Given the description of an element on the screen output the (x, y) to click on. 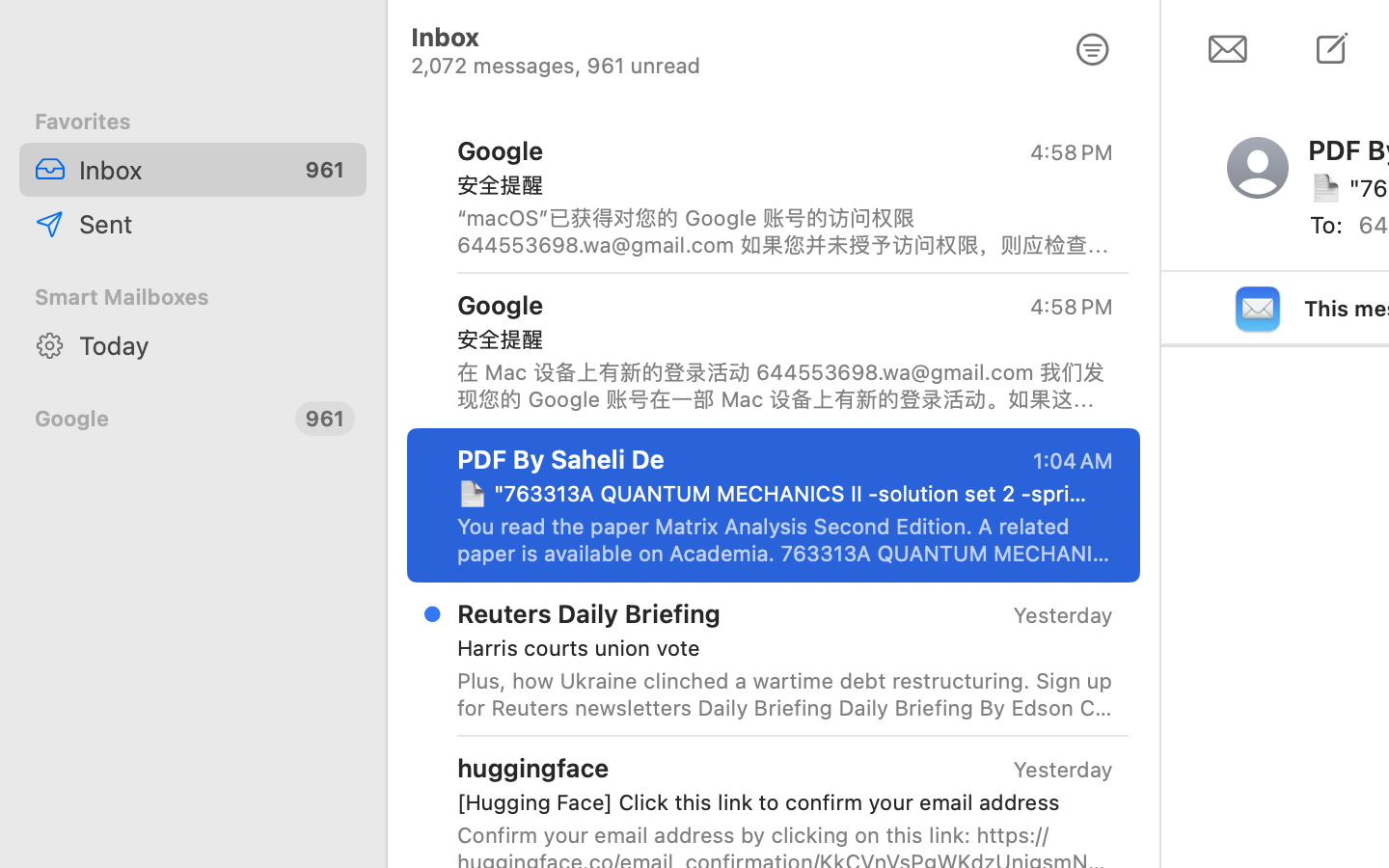
Inbox Element type: AXStaticText (179, 169)
You read the paper Matrix Analysis Second Edition. A related paper is available on Academia. 763313A QUANTUM MECHANICS II -solution set 2 -spring 2014 Saheli De 237 Views View PDF ▸ Download PDF ⬇ Your recent reading history: Matrix Analysis Second Edition - Benedict Cui Want fewer recommendations like this one? 580 California St., Suite 400, San Francisco, CA, 94104 Unsubscribe Privacy Policy Terms of Service © 2024 Academia Element type: AXStaticText (784, 540)
huggingface Element type: AXStaticText (533, 767)
1:04 AM Element type: AXStaticText (1071, 460)
Smart Mailboxes Element type: AXStaticText (192, 296)
